Given the description of an element on the screen output the (x, y) to click on. 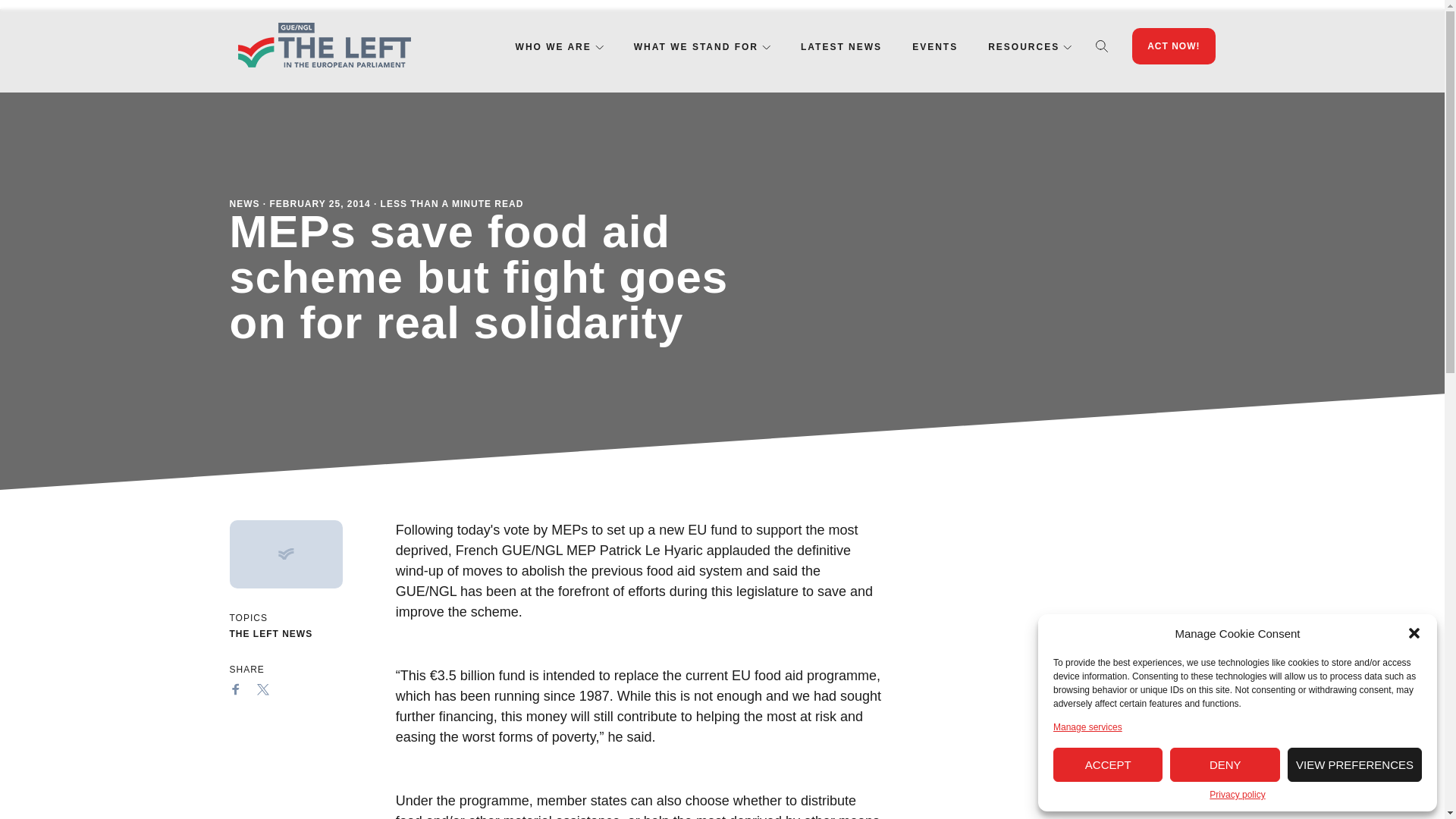
Search (1101, 45)
Accueil (323, 45)
DENY (1224, 764)
WHO WE ARE (553, 46)
ACCEPT (1106, 764)
LATEST NEWS (841, 46)
WHAT WE STAND FOR (695, 46)
The Left (323, 45)
Privacy policy (1237, 794)
EVENTS (935, 46)
